Given the description of an element on the screen output the (x, y) to click on. 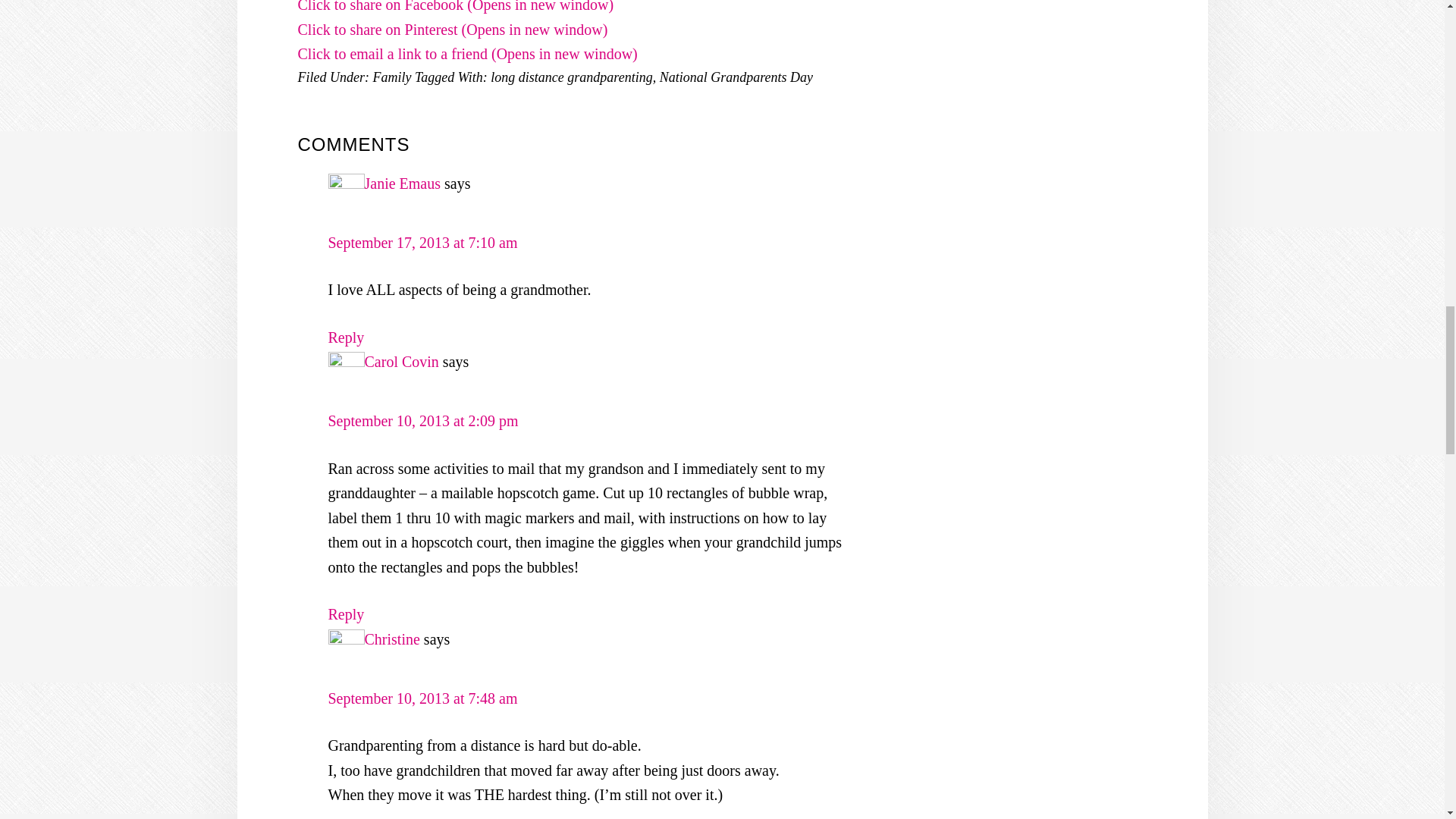
Click to email a link to a friend (467, 53)
Click to share on Pinterest (452, 29)
Click to share on Facebook (454, 6)
